Given the description of an element on the screen output the (x, y) to click on. 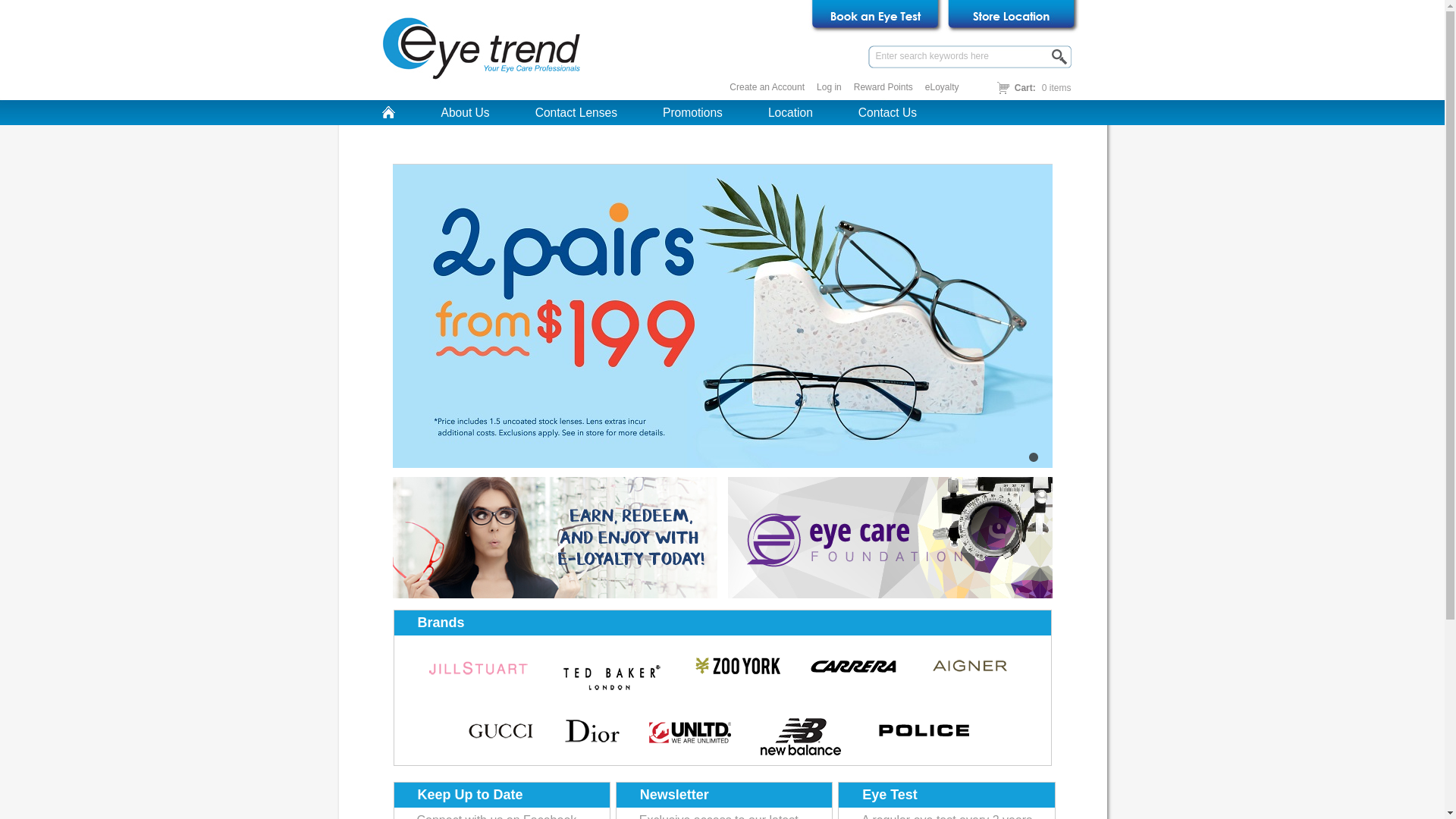
About Us Element type: text (465, 112)
1 Element type: text (1033, 456)
Contact Us Element type: text (887, 112)
 Book an Eye Test  Element type: hover (875, 17)
Create an Account Element type: text (766, 87)
eLoyalty Element type: text (749, 141)
Reward Points Element type: text (883, 87)
0 items Element type: text (1056, 87)
eLoyalty Element type: text (942, 87)
MODULE_BOXES_MAIN_MENU_ELOYALTY Element type: text (561, 141)
Log in Element type: text (828, 87)
Contact Lenses Element type: text (576, 112)
Cart: Element type: text (1024, 87)
 alt="Search"  Element type: hover (1060, 56)
 Store Location  Element type: hover (1011, 16)
Location Element type: text (790, 112)
 E-Loyalty  Element type: hover (554, 537)
 EFC  Element type: hover (890, 537)
Promotions Element type: text (692, 112)
